Given the description of an element on the screen output the (x, y) to click on. 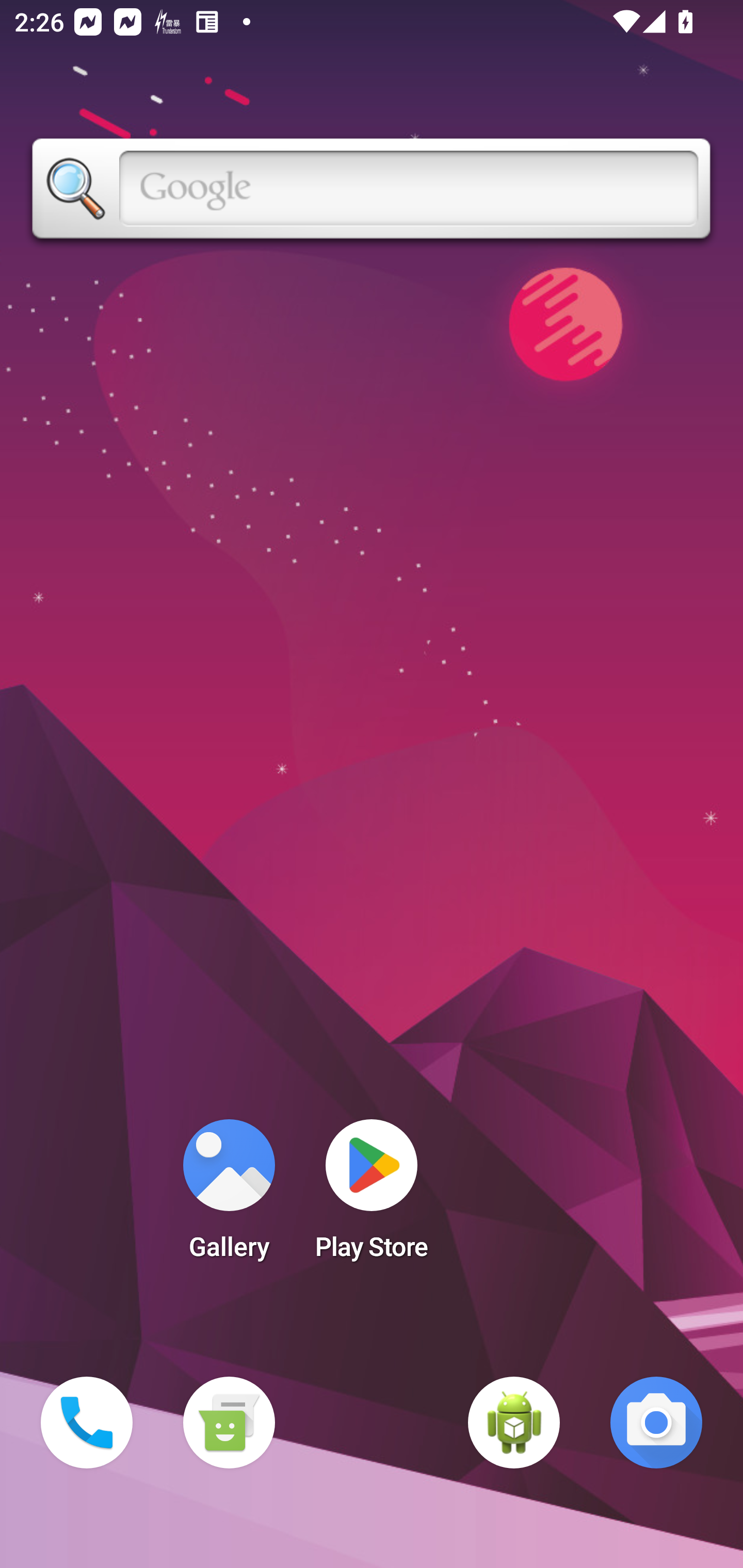
Gallery (228, 1195)
Play Store (371, 1195)
Phone (86, 1422)
Messaging (228, 1422)
WebView Browser Tester (513, 1422)
Camera (656, 1422)
